Given the description of an element on the screen output the (x, y) to click on. 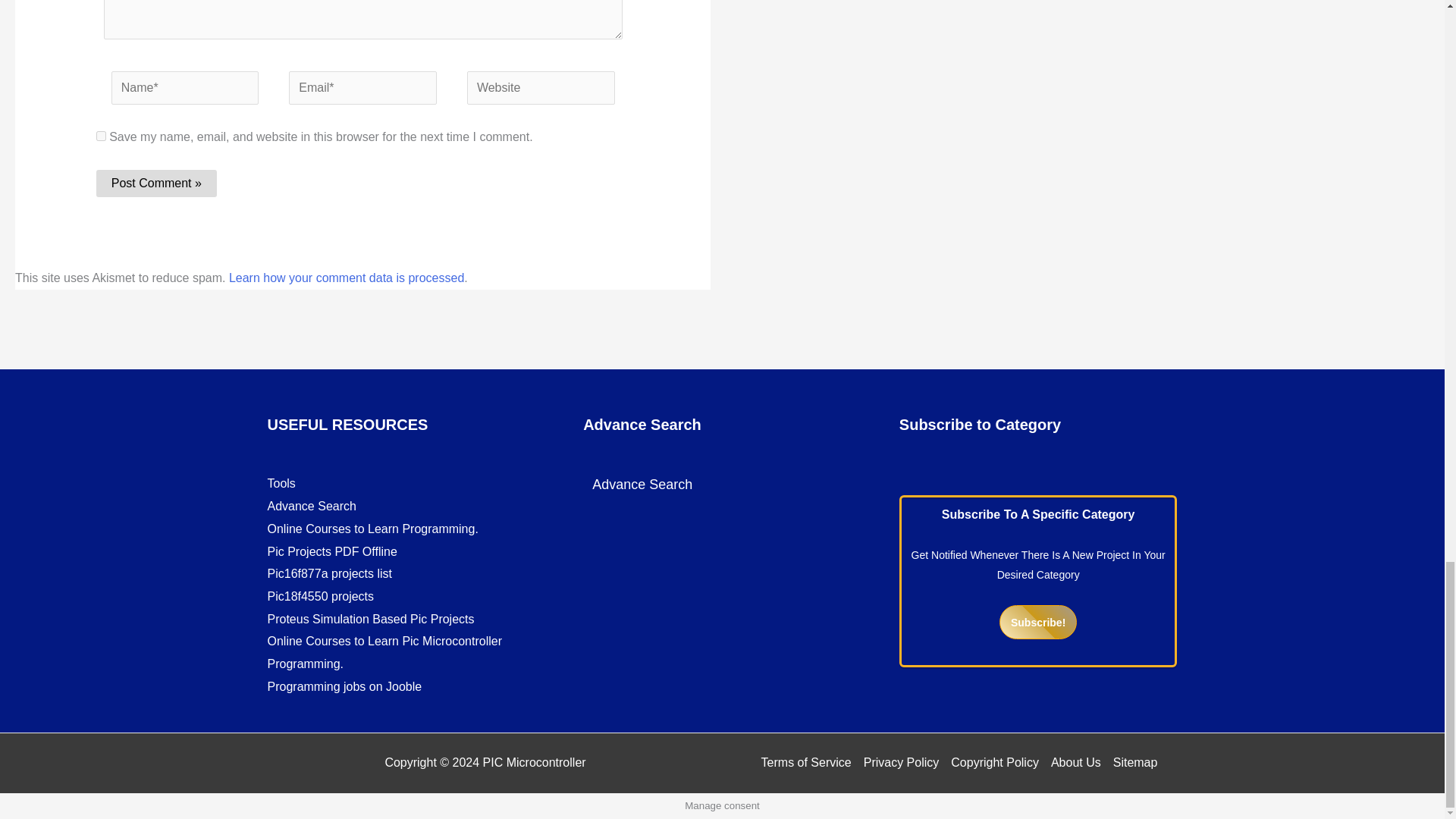
yes (101, 135)
